Given the description of an element on the screen output the (x, y) to click on. 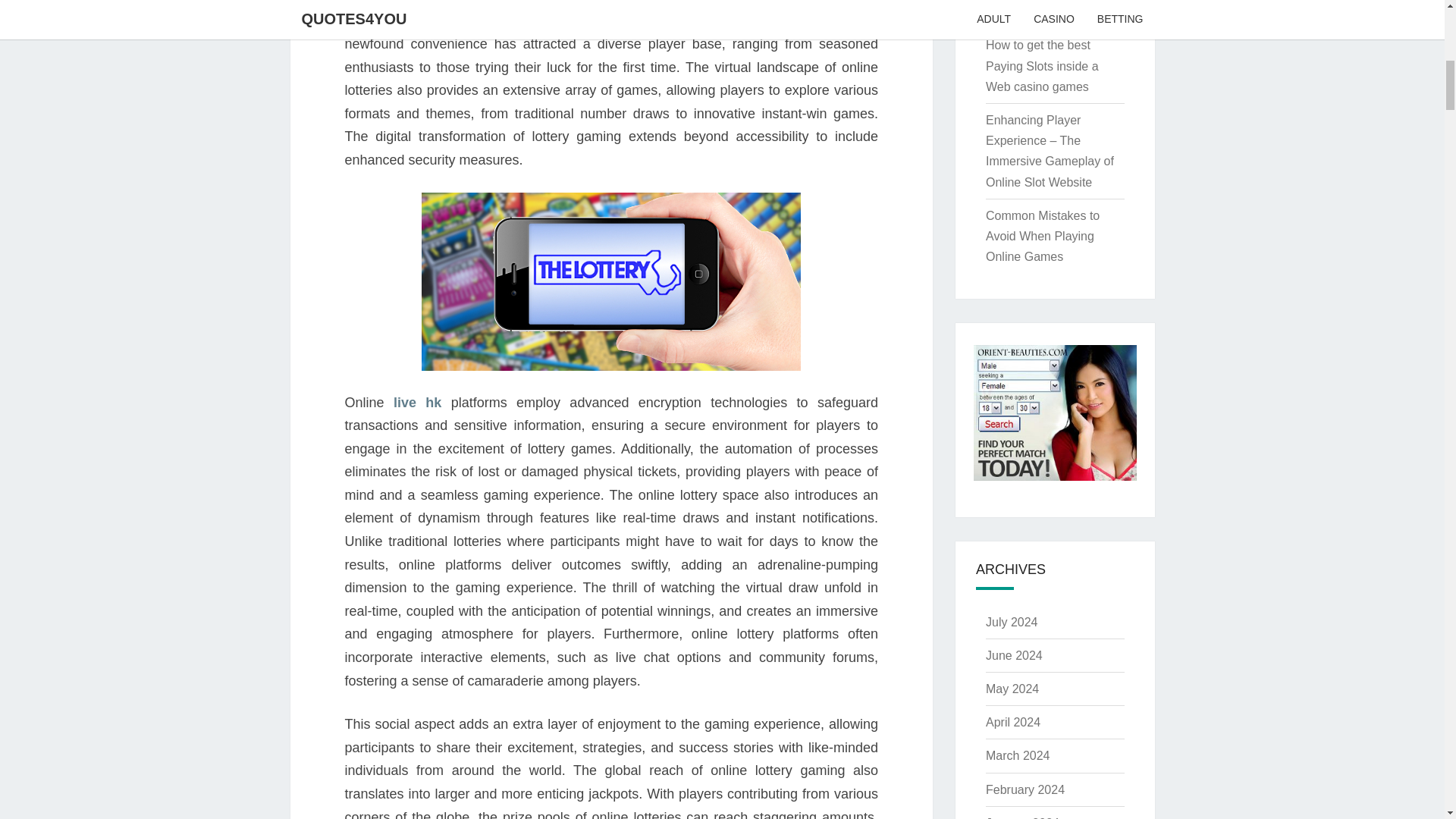
live hk (417, 401)
